Given the description of an element on the screen output the (x, y) to click on. 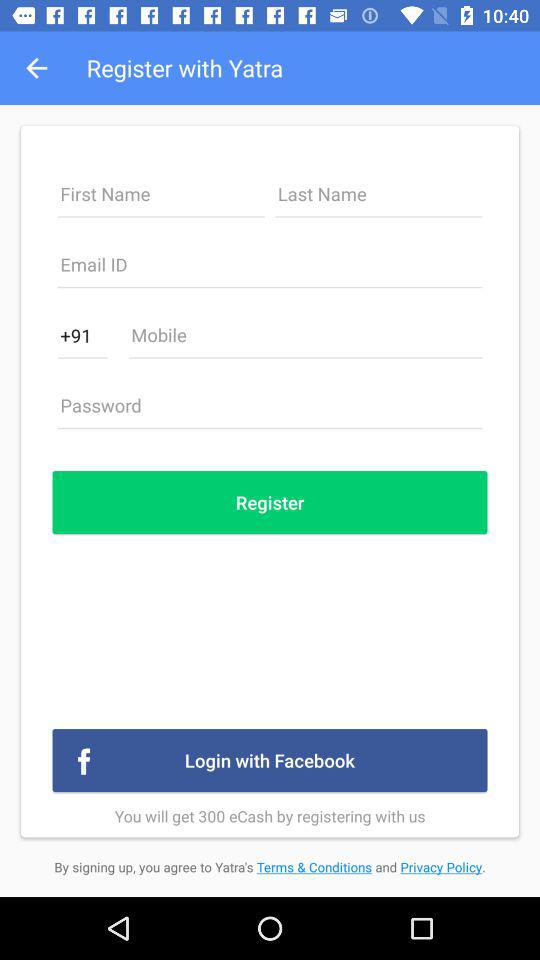
last name (378, 199)
